Given the description of an element on the screen output the (x, y) to click on. 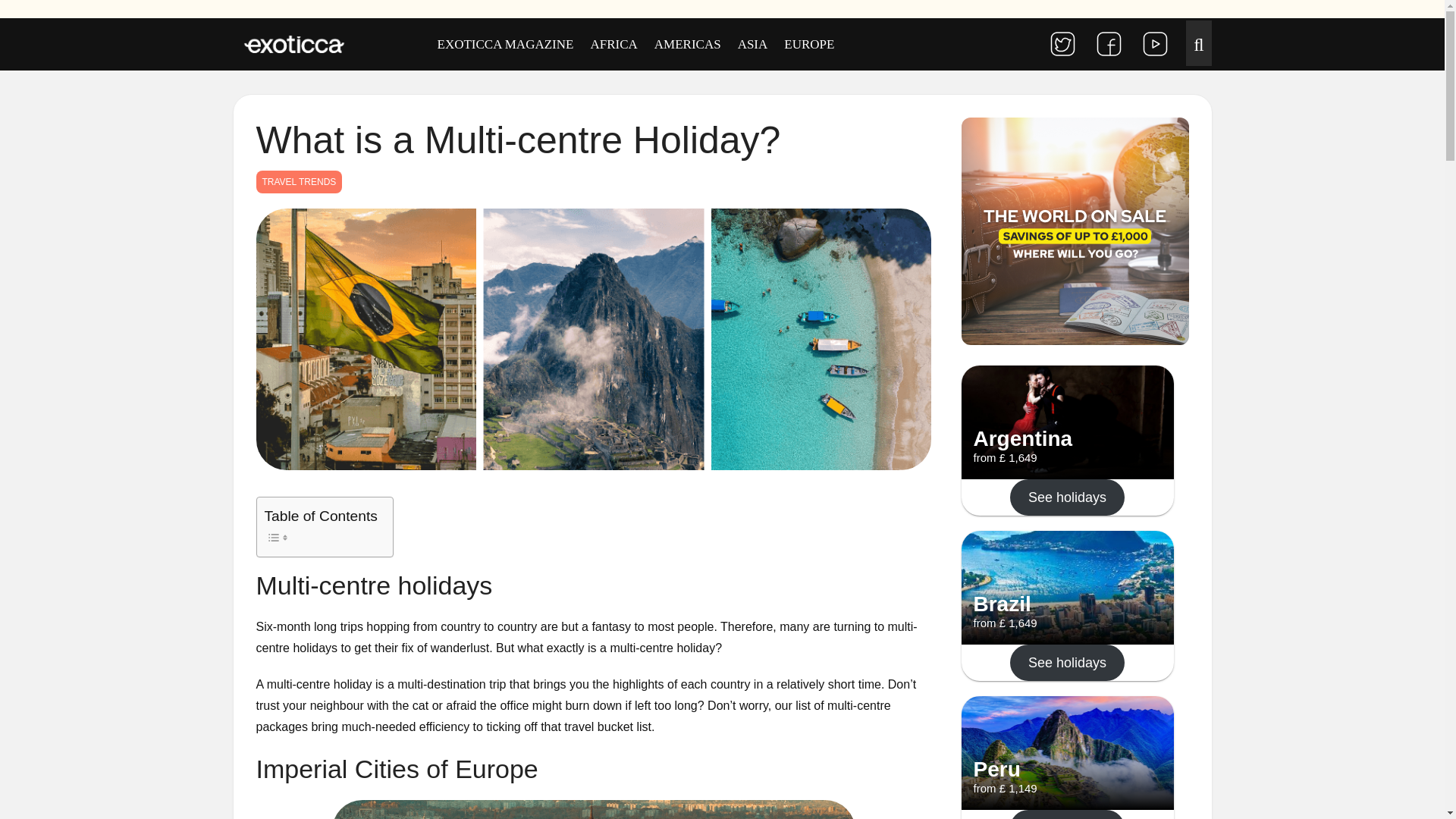
Holidays to Europe (809, 44)
Exoticca travel (293, 45)
AMERICAS (687, 44)
Exoticca Magazine (505, 44)
Holidays to Africa (612, 44)
EXOTICCA MAGAZINE (505, 44)
EUROPE (809, 44)
TRAVEL TRENDS (299, 181)
Holidays to Asia (752, 44)
AFRICA (612, 44)
Holidays to Americas (687, 44)
ASIA (752, 44)
